Given the description of an element on the screen output the (x, y) to click on. 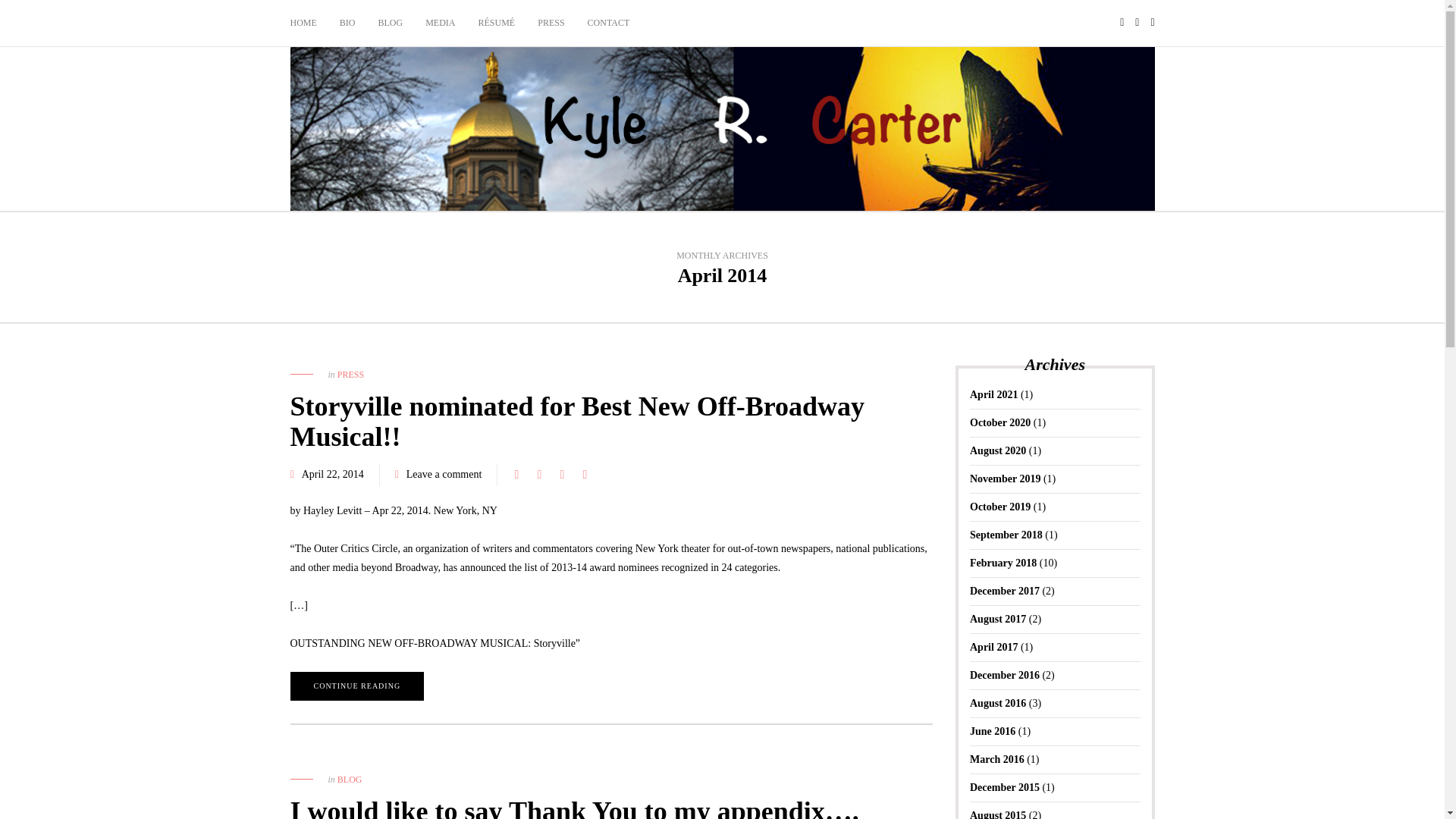
April 2021 (993, 394)
Storyville nominated for Best New Off-Broadway Musical!! (576, 421)
BLOG (390, 22)
Tweet this (538, 474)
August 2017 (997, 618)
MEDIA (439, 22)
November 2019 (1005, 478)
October 2019 (999, 506)
December 2017 (1004, 591)
Leave a comment (443, 473)
October 2020 (999, 422)
PRESS (350, 374)
April 2017 (993, 646)
BLOG (349, 778)
CONTACT (609, 22)
